Given the description of an element on the screen output the (x, y) to click on. 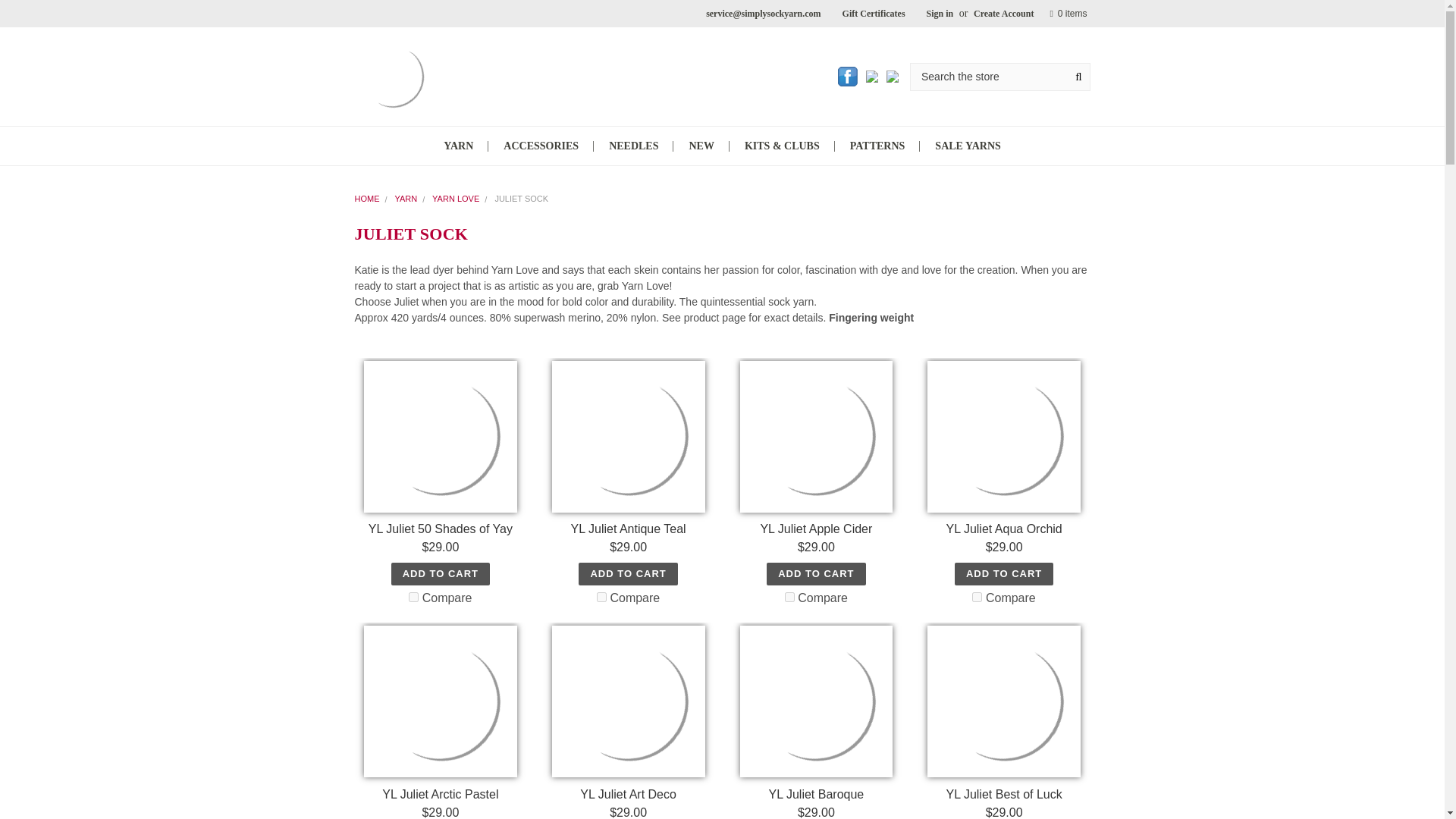
YL Juliet Apple Cider - (815, 436)
Gift Certificates (873, 13)
YL Juliet 50 Shades of Yay - (440, 436)
YL Juliet Best of Luck - (1004, 701)
YL Juliet Arctic Pastel - (440, 701)
18094 (789, 596)
12099 (414, 596)
YARN (457, 145)
Create Account (1002, 13)
YL Juliet Aqua Orchid - (1004, 436)
